Given the description of an element on the screen output the (x, y) to click on. 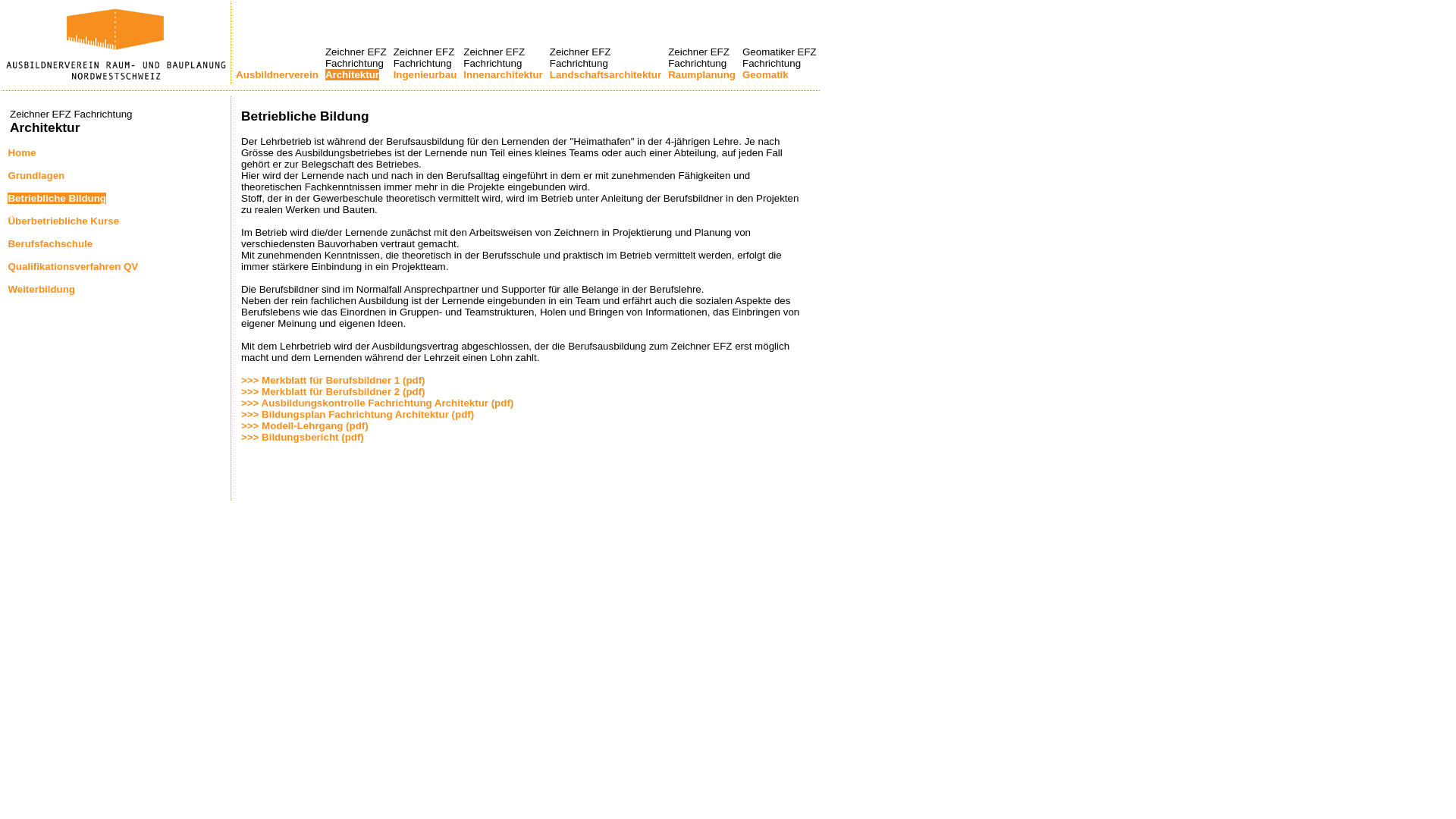
Home Element type: text (21, 152)
Ingenieurbau Element type: text (425, 74)
>>> Modell-Lehrgang (pdf) Element type: text (304, 425)
Geomatik Element type: text (765, 74)
Weiterbildung Element type: text (41, 288)
>>> Bildungsbericht (pdf) Element type: text (302, 436)
Ausbildnerverein Element type: text (276, 74)
Qualifikationsverfahren QV Element type: text (72, 266)
Raumplanung Element type: text (701, 74)
>>> Ausbildungskontrolle Fachrichtung Architektur (pdf) Element type: text (377, 402)
Berufsfachschule Element type: text (49, 243)
Innenarchitektur Element type: text (502, 74)
Grundlagen Element type: text (35, 175)
>>> Bildungsplan Fachrichtung Architektur (pdf) Element type: text (357, 414)
Landschaftsarchitektur Element type: text (605, 74)
